Given the description of an element on the screen output the (x, y) to click on. 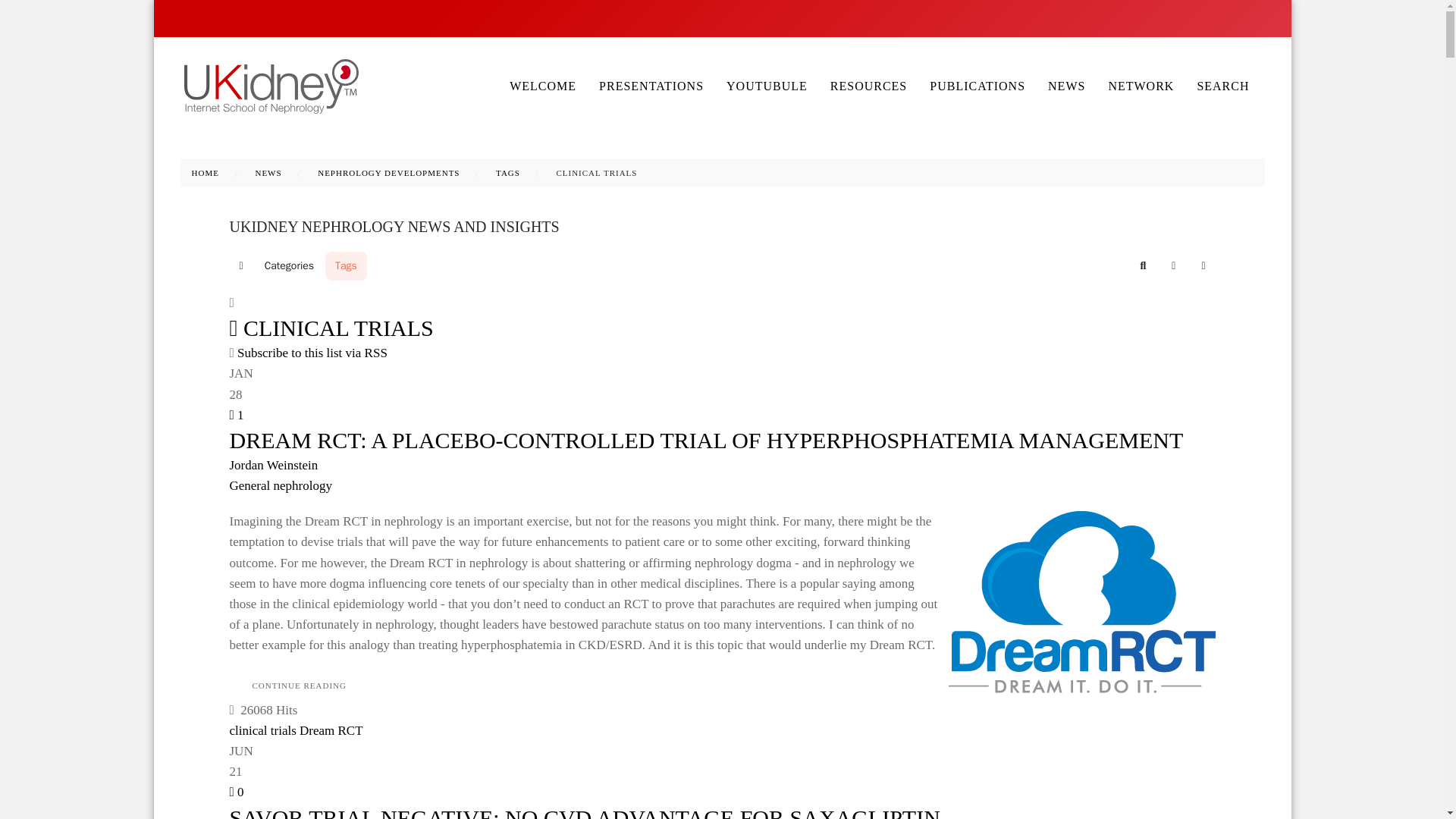
Subscribe to this list via RSS (312, 352)
Tags (345, 265)
Categories (288, 265)
